Given the description of an element on the screen output the (x, y) to click on. 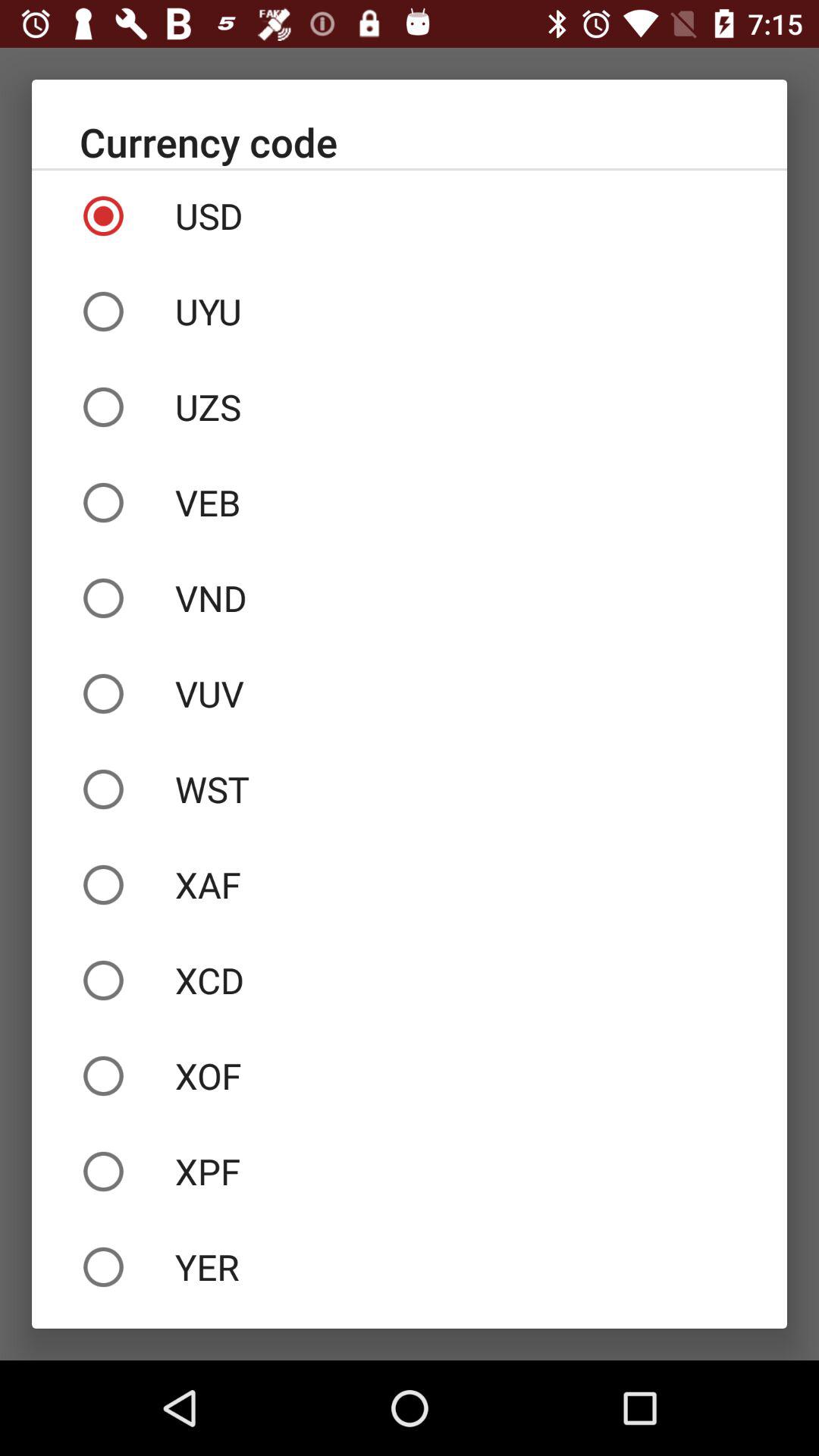
scroll to the xaf item (409, 884)
